Given the description of an element on the screen output the (x, y) to click on. 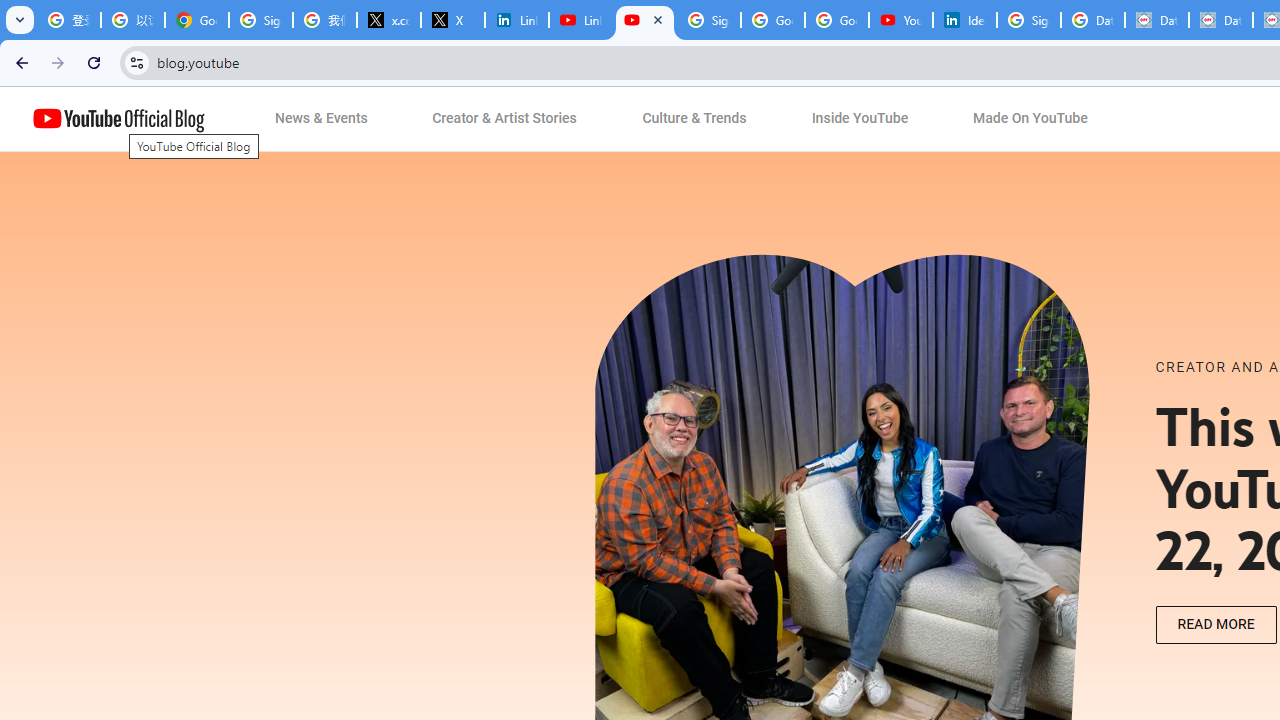
Sign in - Google Accounts (709, 20)
Inside YouTube (859, 119)
LinkedIn Privacy Policy (517, 20)
Data Privacy Framework (1221, 20)
Sign in - Google Accounts (261, 20)
X (453, 20)
